Given the description of an element on the screen output the (x, y) to click on. 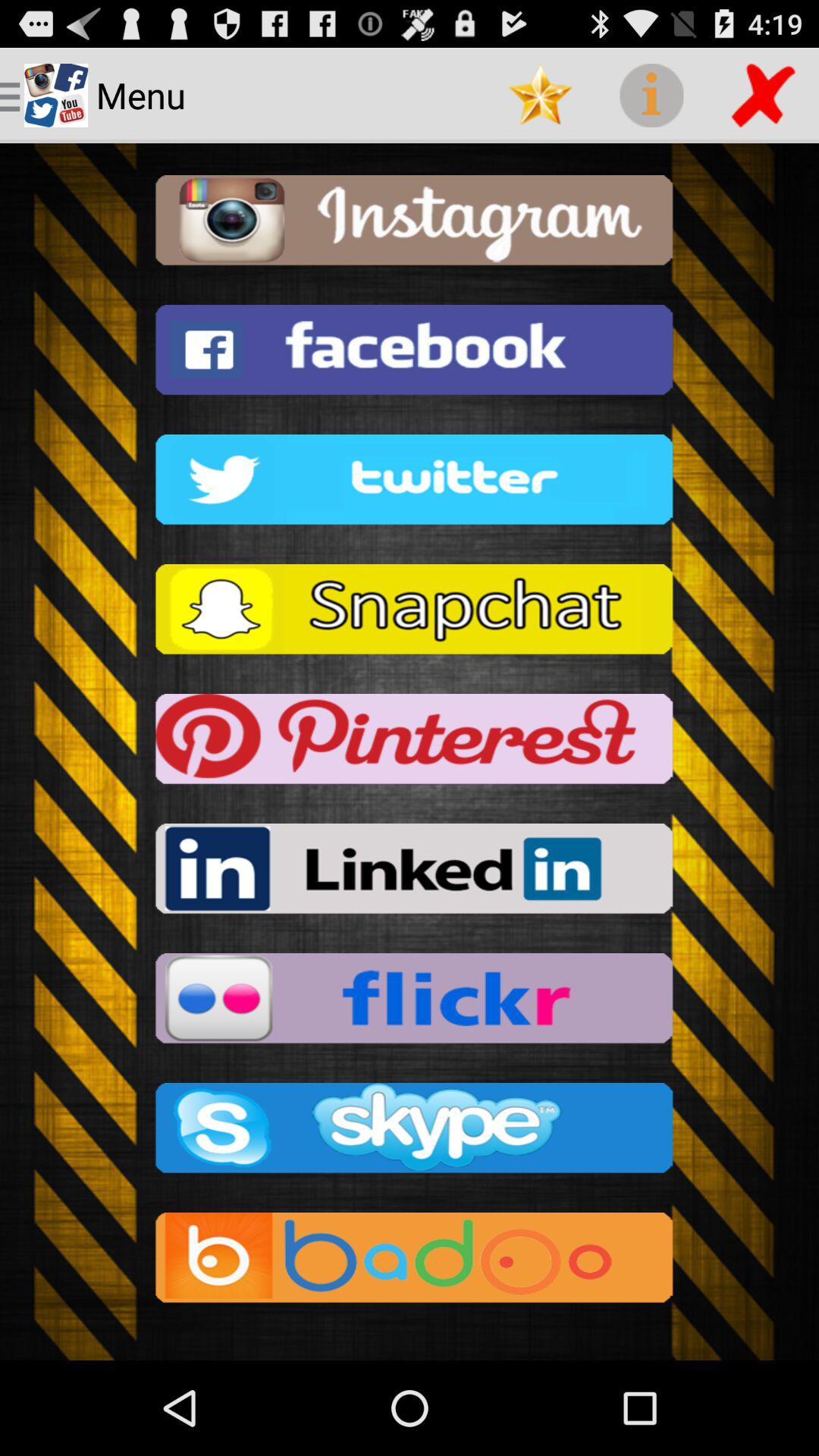
go to linked option (409, 873)
